Given the description of an element on the screen output the (x, y) to click on. 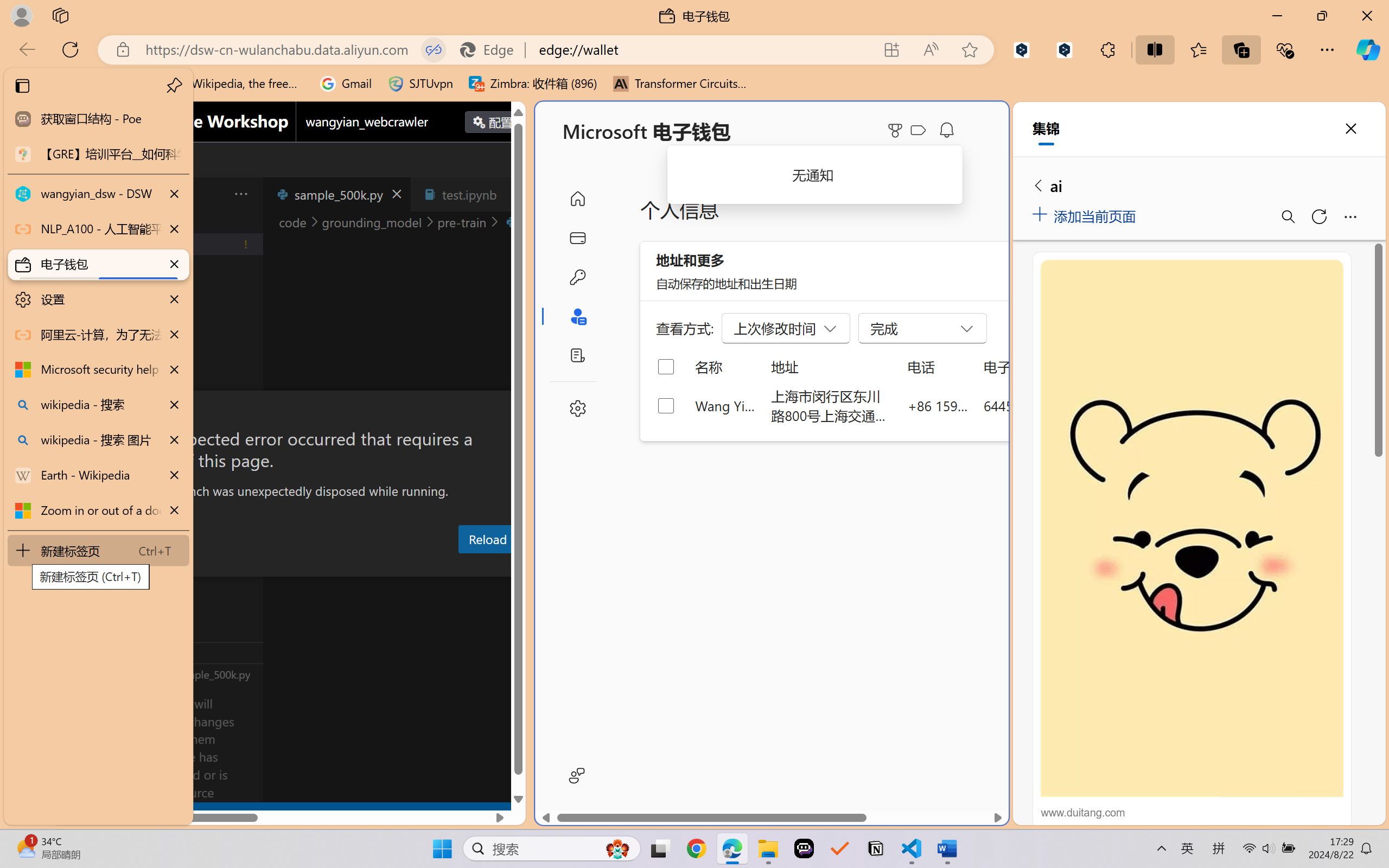
Copilot (Ctrl+Shift+.) (1368, 49)
Debug Console (Ctrl+Shift+Y) (463, 565)
Explorer Section: wangyian (179, 221)
